Given the description of an element on the screen output the (x, y) to click on. 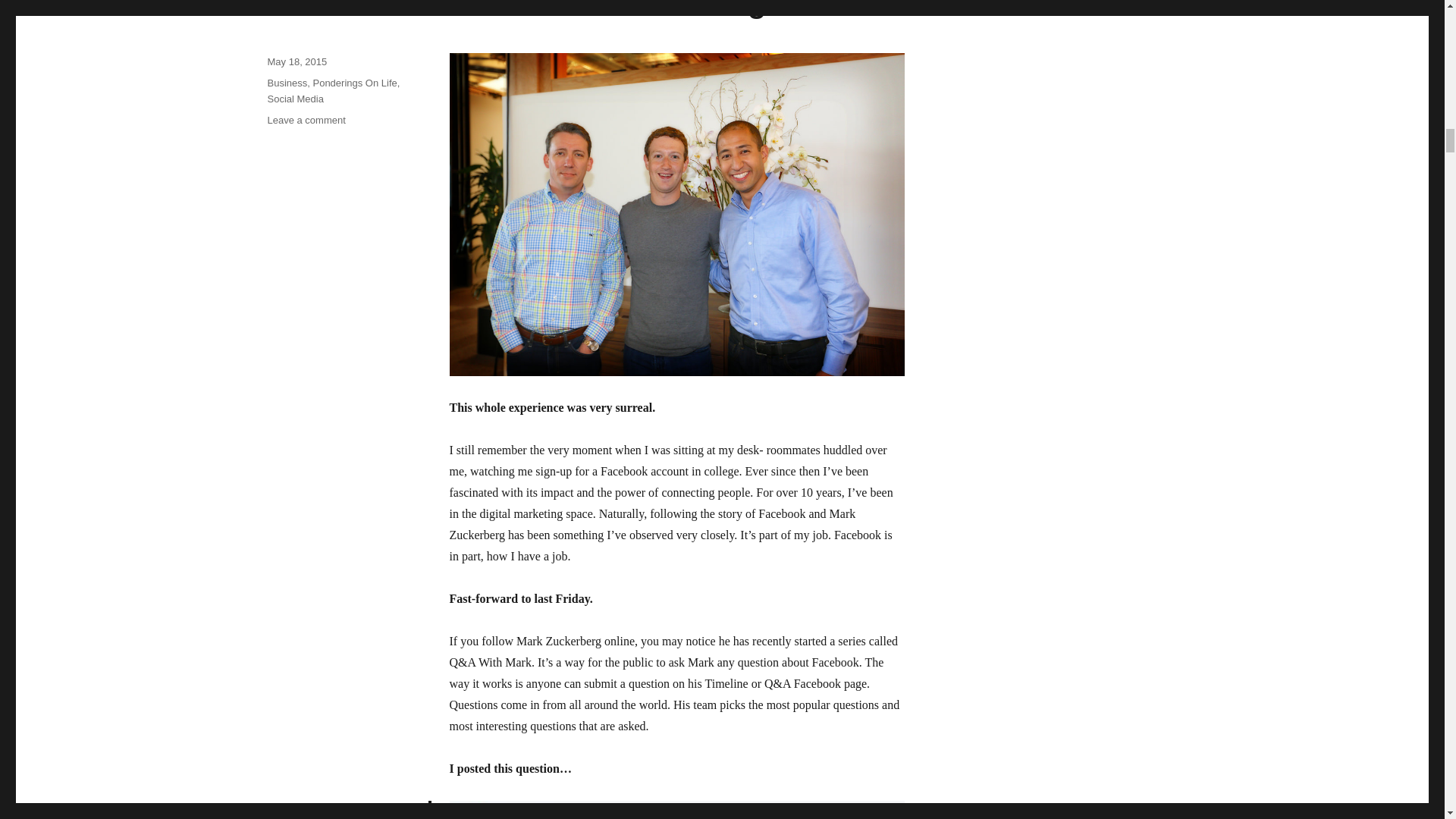
This Is How I Met Mark Zuckerberg. (520, 9)
Ponderings On Life (354, 82)
Social Media (294, 98)
May 18, 2015 (296, 61)
Business (286, 82)
